Given the description of an element on the screen output the (x, y) to click on. 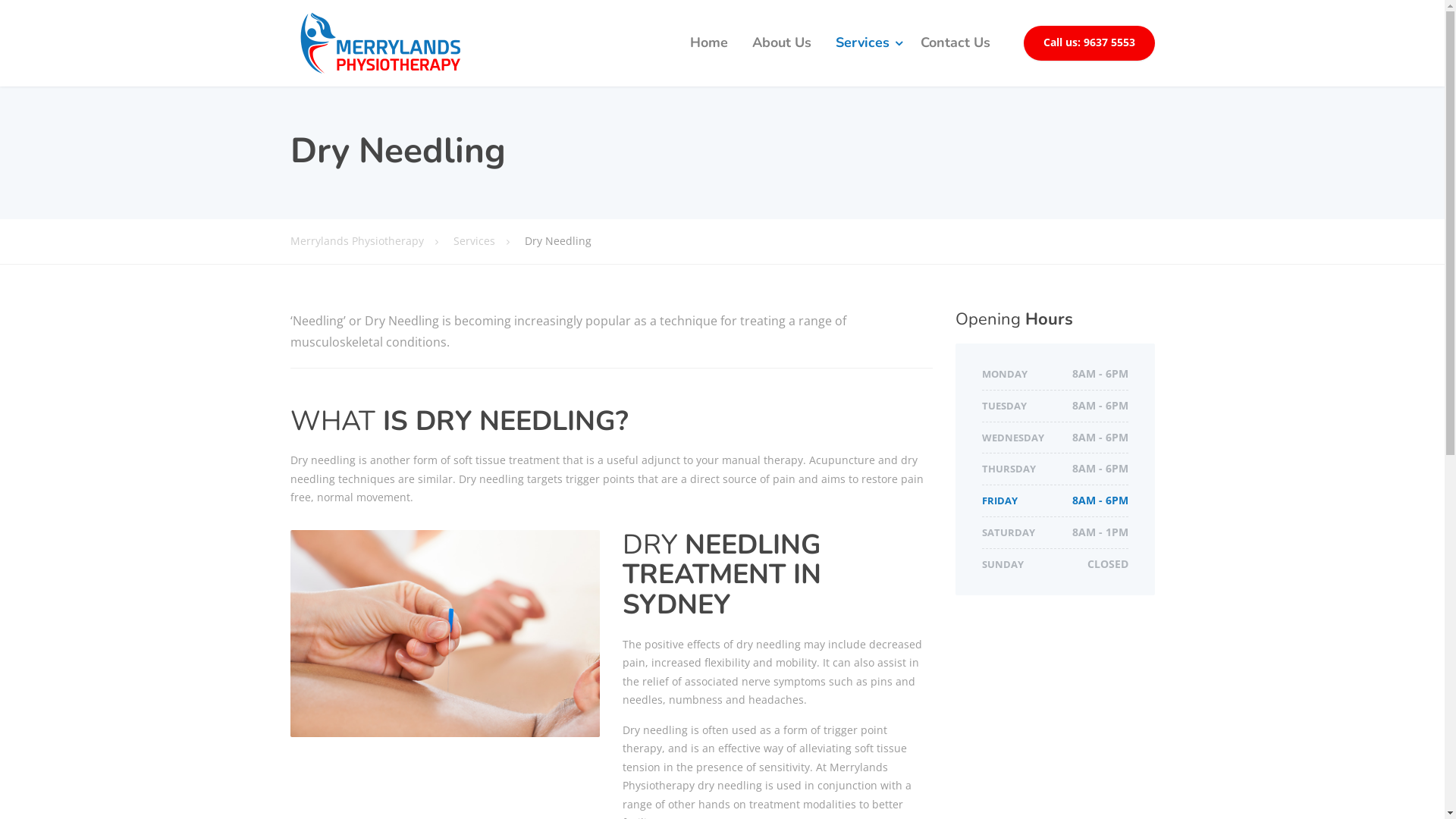
Home Element type: text (708, 43)
Contact Us Element type: text (955, 43)
Merrylands Physiotherapy Element type: text (370, 241)
Call us: 9637 5553 Element type: text (1088, 42)
Services Element type: text (488, 241)
Merrylands Physiotherapy Element type: hover (379, 42)
About Us Element type: text (781, 43)
Services Element type: text (865, 43)
